Given the description of an element on the screen output the (x, y) to click on. 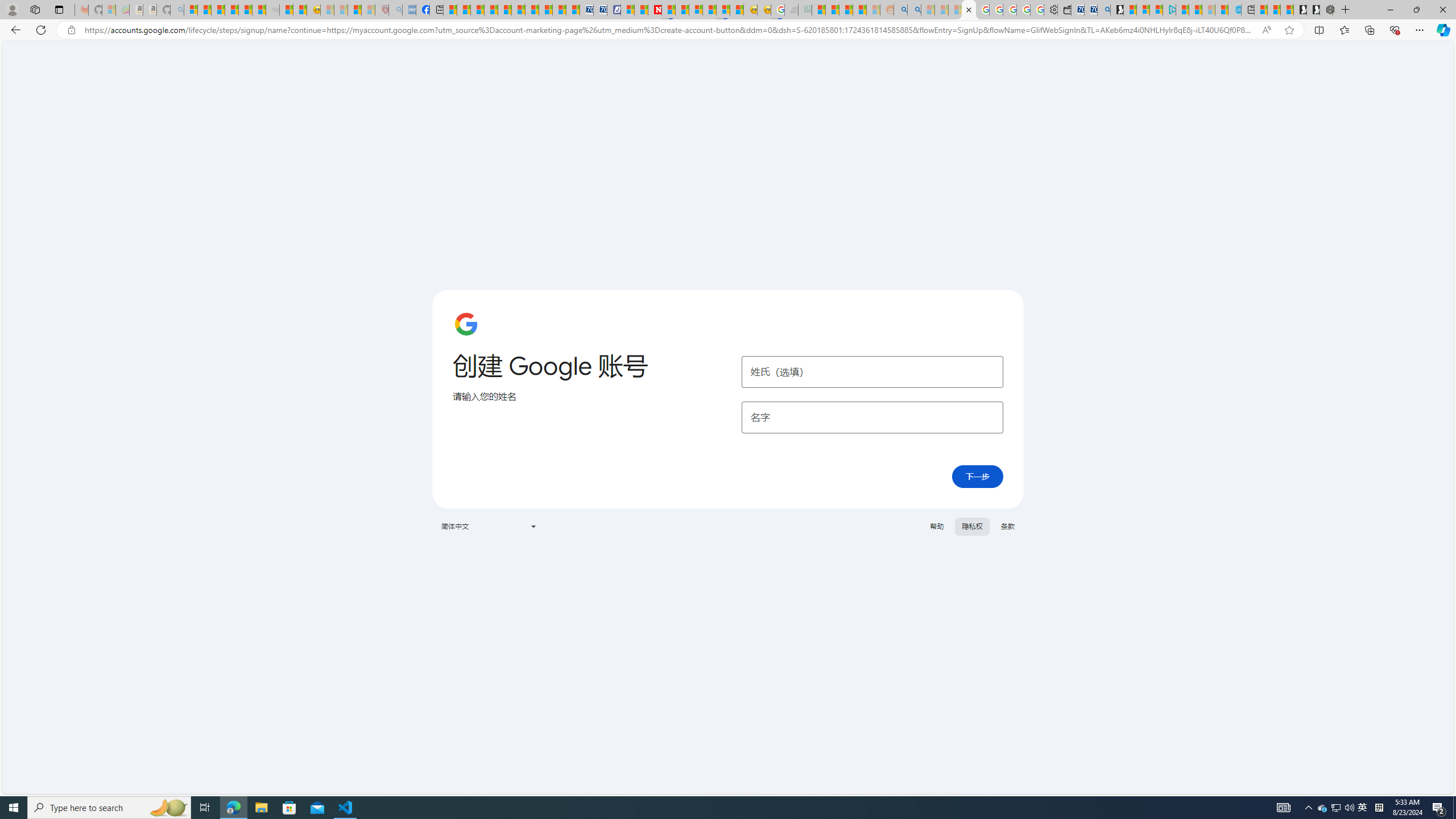
MSNBC - MSN (817, 9)
Recipes - MSN - Sleeping (327, 9)
New Report Confirms 2023 Was Record Hot | Watch (245, 9)
